Given the description of an element on the screen output the (x, y) to click on. 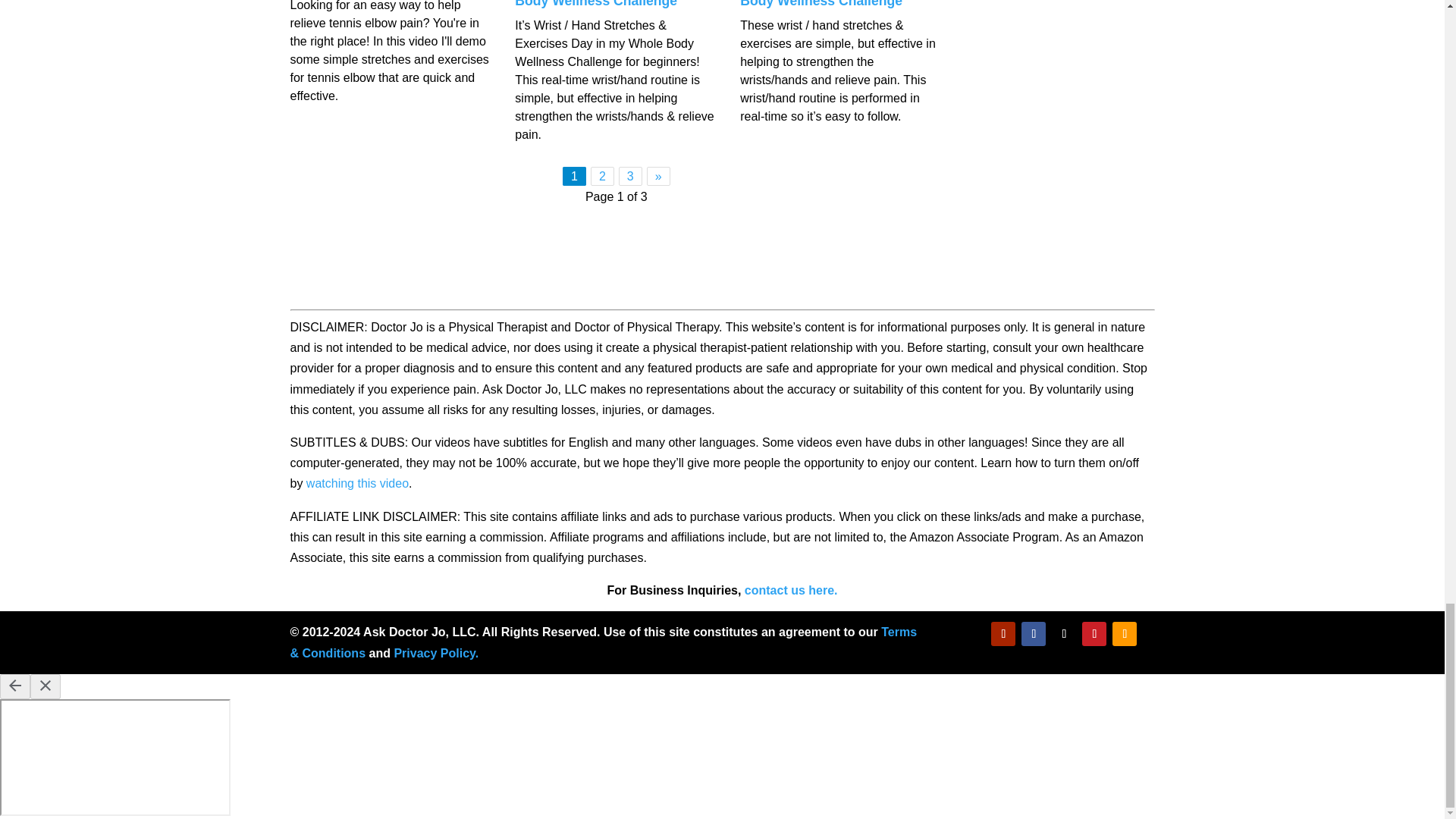
Follow on Amazon (1124, 633)
Follow on X (1063, 633)
Follow on Pinterest (1093, 633)
Follow on Facebook (1033, 633)
Follow on Youtube (1002, 633)
